Given the description of an element on the screen output the (x, y) to click on. 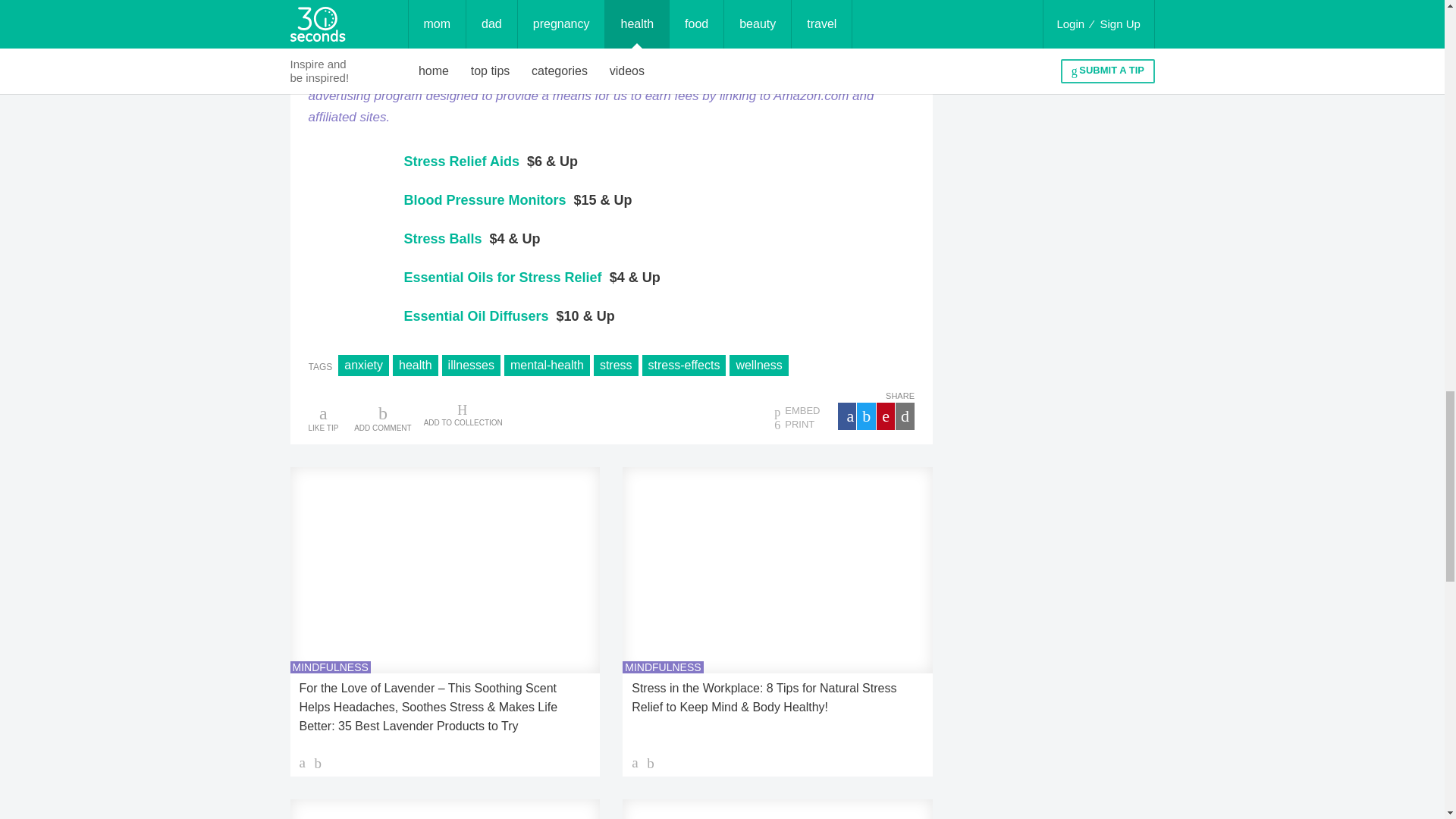
ADD COMMENT (382, 417)
